Given the description of an element on the screen output the (x, y) to click on. 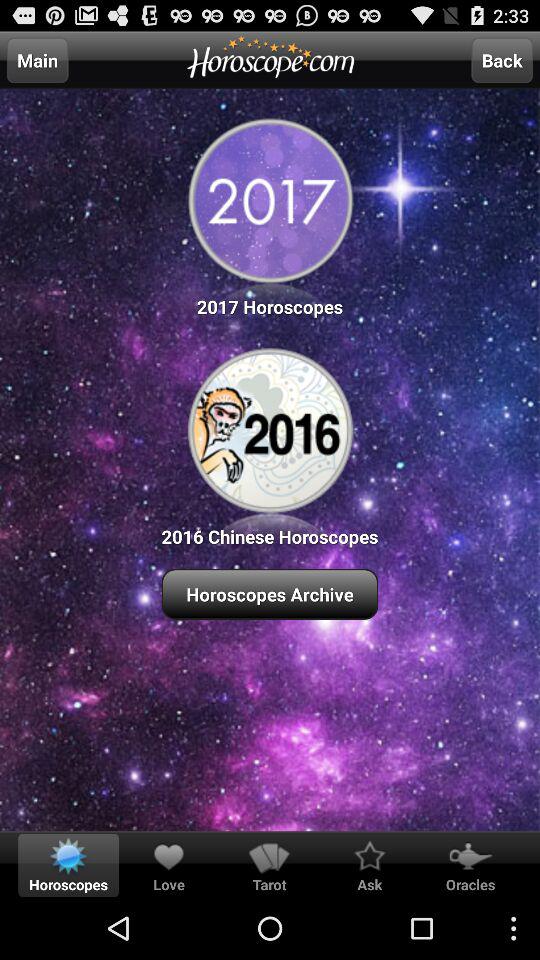
click the main icon (37, 60)
